Given the description of an element on the screen output the (x, y) to click on. 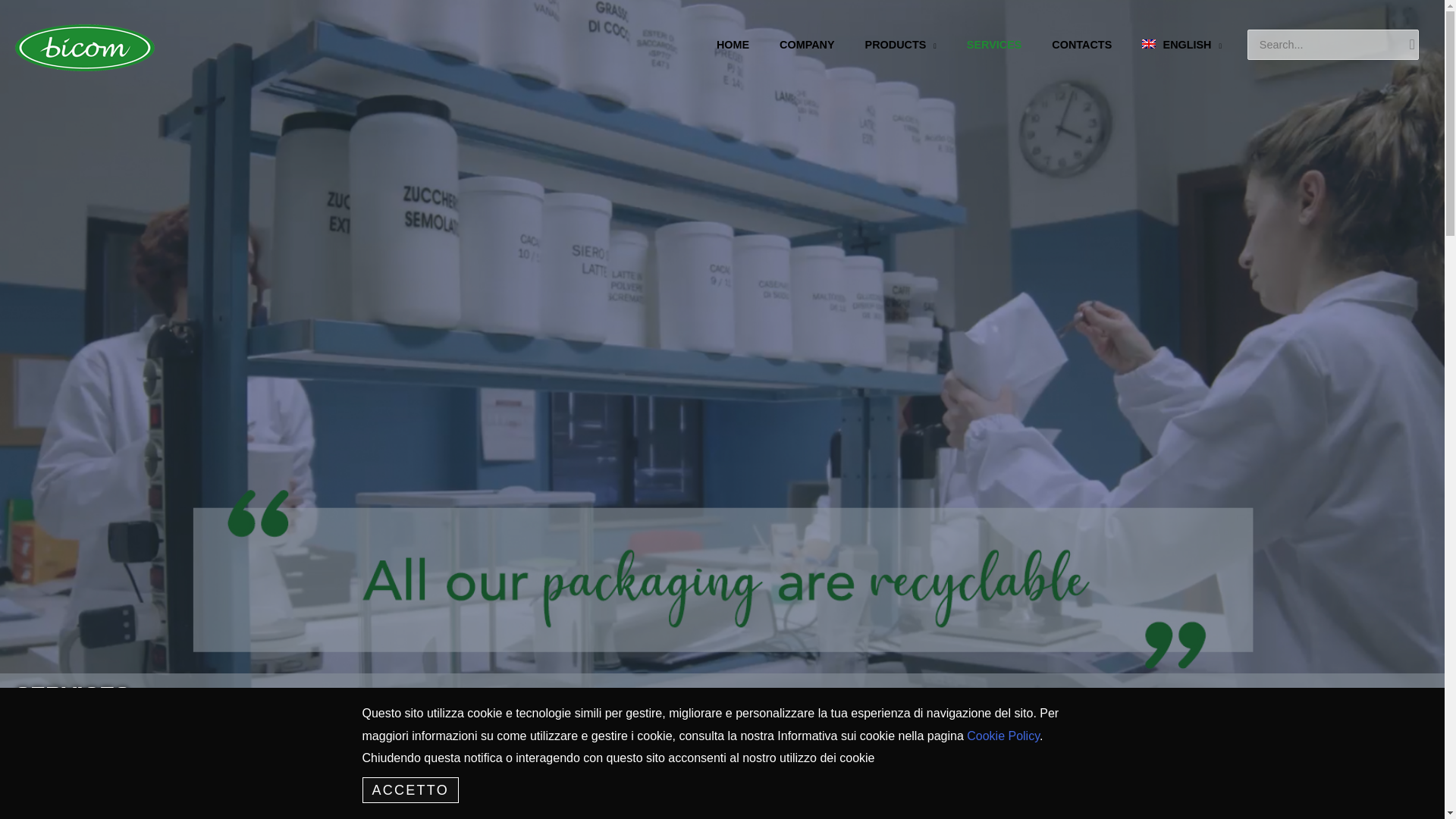
HOME (732, 45)
COMPANY (807, 45)
PRODUCTS (901, 45)
English (1181, 45)
